Given the description of an element on the screen output the (x, y) to click on. 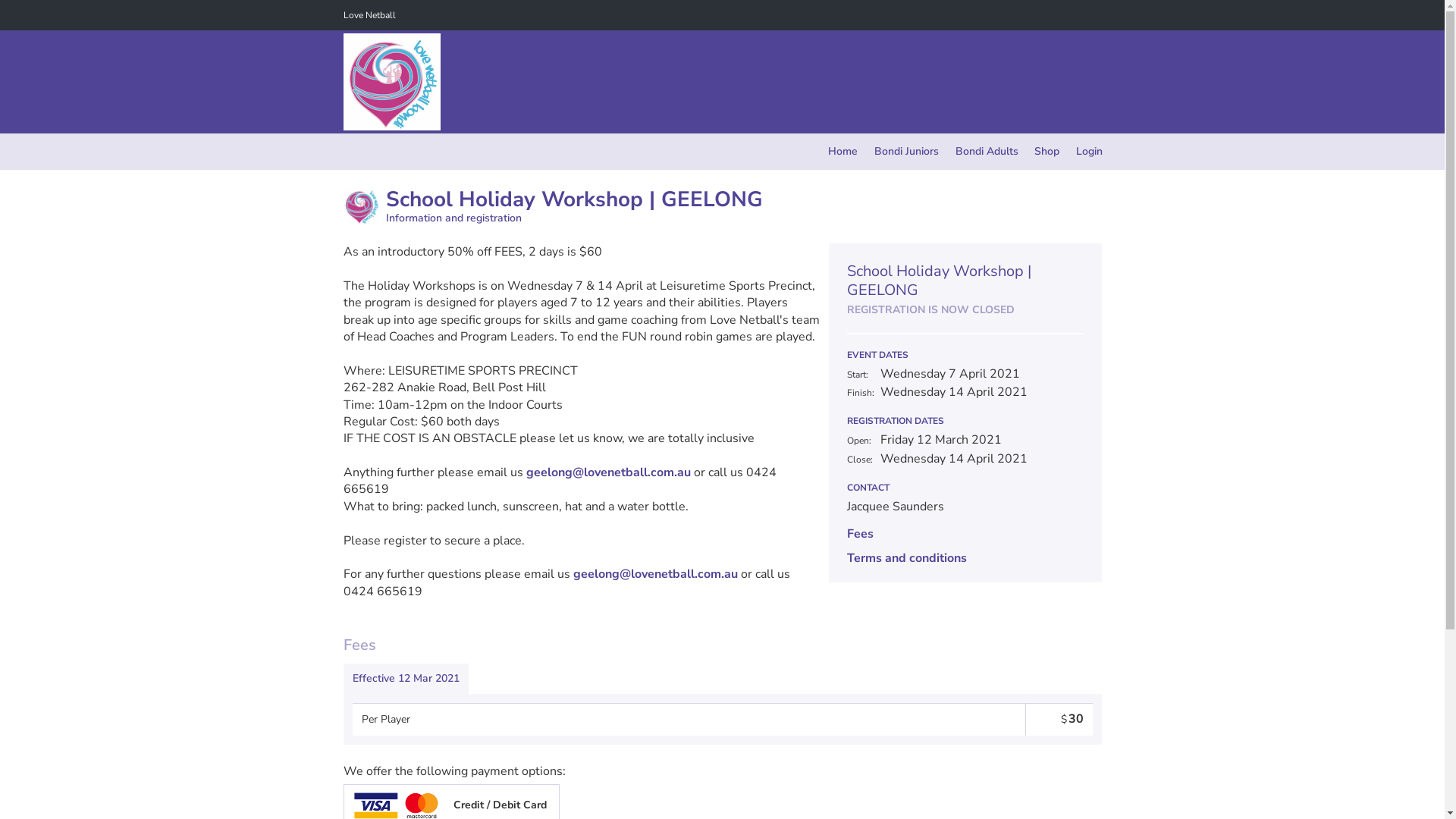
geelong@lovenetball.com.au Element type: text (608, 472)
Effective 12 Mar 2021 Element type: text (404, 678)
Login Element type: text (1088, 151)
Bondi Juniors Element type: text (906, 151)
geelong@lovenetball.com.au Element type: text (655, 573)
Fees Element type: text (859, 533)
Home Element type: text (843, 151)
Terms and conditions Element type: text (906, 558)
Love Netball Element type: text (368, 15)
Shop Element type: text (1046, 151)
Bondi Adults Element type: text (986, 151)
